Given the description of an element on the screen output the (x, y) to click on. 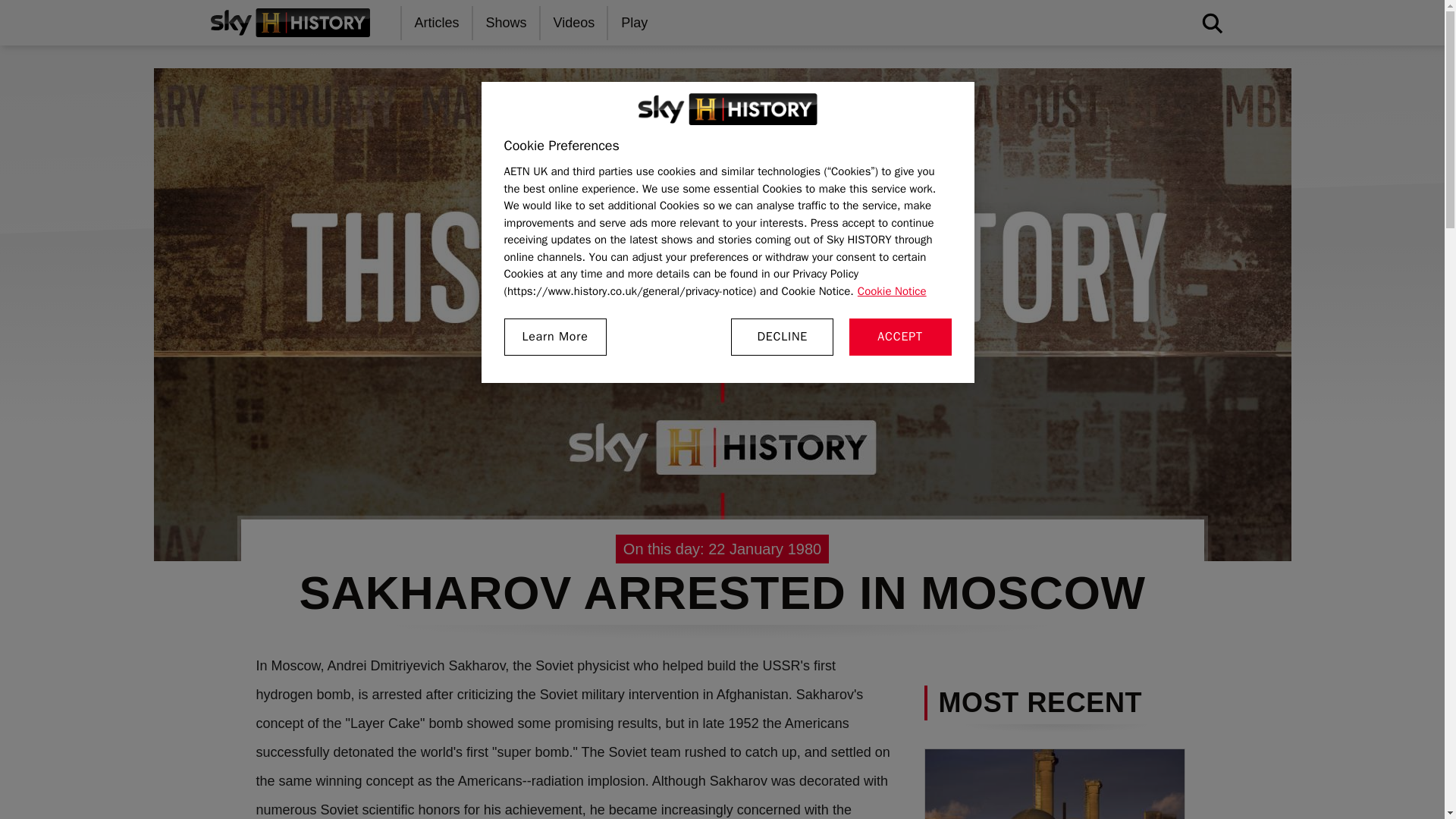
Sky HISTORY (727, 109)
Videos (575, 22)
Home (290, 22)
HISTORY Play - Stream the best of HISTORY (635, 22)
Shows (507, 22)
Articles (437, 22)
Play (635, 22)
Search (987, 69)
